Given the description of an element on the screen output the (x, y) to click on. 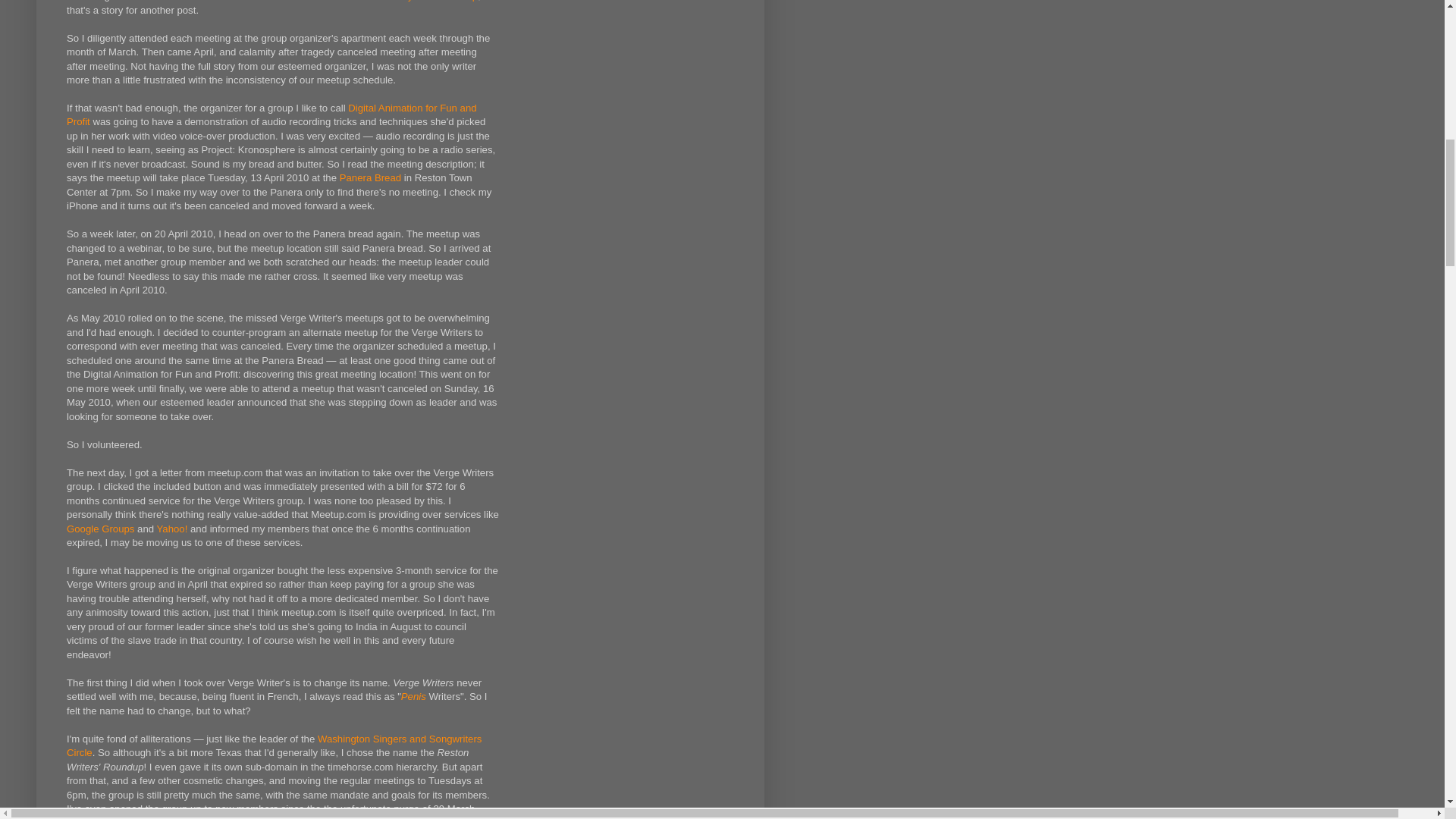
Penis (413, 696)
Washington Singers and Songwriters Circle (273, 745)
Loudoun County Writers Group (408, 0)
Panera Bread (370, 177)
Digital Animation for Fun and Profit (271, 114)
Google Groups (99, 528)
Yahoo! (172, 528)
